Given the description of an element on the screen output the (x, y) to click on. 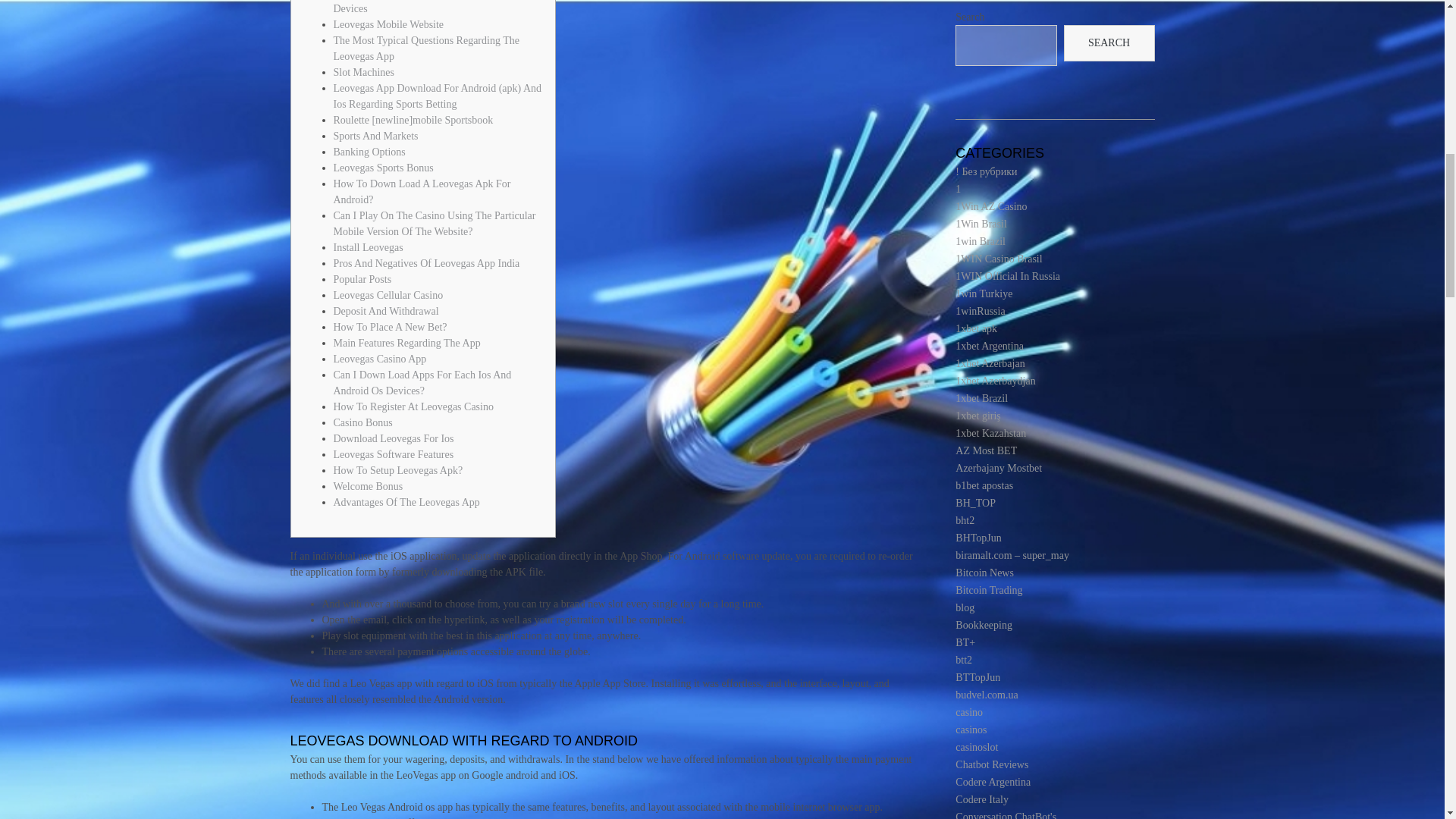
Leovegas Sports Bonus (383, 167)
How To Place A New Bet? (389, 326)
Can I Down Load Apps For Each Ios And Android Os Devices? (422, 382)
Download Leovegas For Ios (393, 438)
Deposit And Withdrawal (386, 310)
Slot Machines (363, 71)
Leovegas Cellular Casino (388, 295)
Leovegas Software Features (393, 454)
Leovegas Mobile Website (388, 24)
Welcome Bonus (368, 486)
How To Down Load A Leovegas Apk For Android? (422, 191)
Main Features Regarding The App (406, 342)
Casino Bonus (363, 422)
Banking Options (369, 152)
Leovegas Casino App (379, 358)
